Given the description of an element on the screen output the (x, y) to click on. 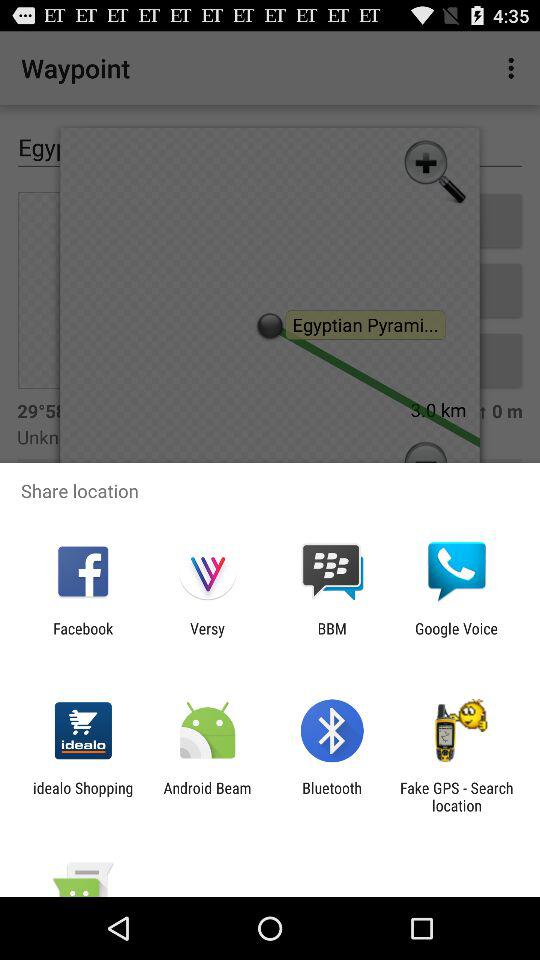
jump to the bbm item (331, 637)
